Given the description of an element on the screen output the (x, y) to click on. 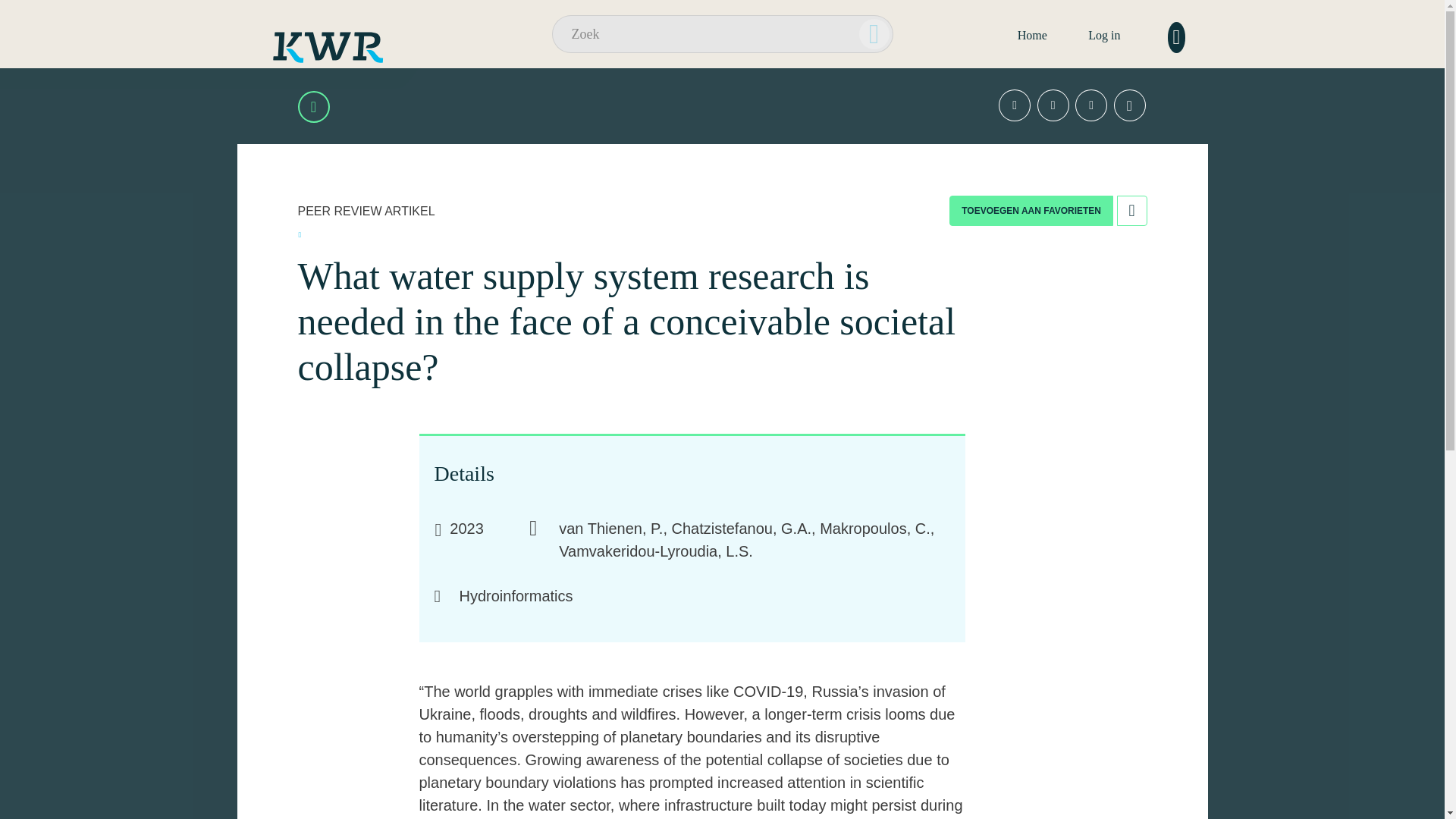
LinkedIn (1052, 105)
Log in (1103, 34)
TOEVOEGEN AAN FAVORIETEN (1031, 210)
Facebook (1090, 105)
Twitter (1014, 105)
Home (1031, 34)
E-mail (1128, 105)
